Given the description of an element on the screen output the (x, y) to click on. 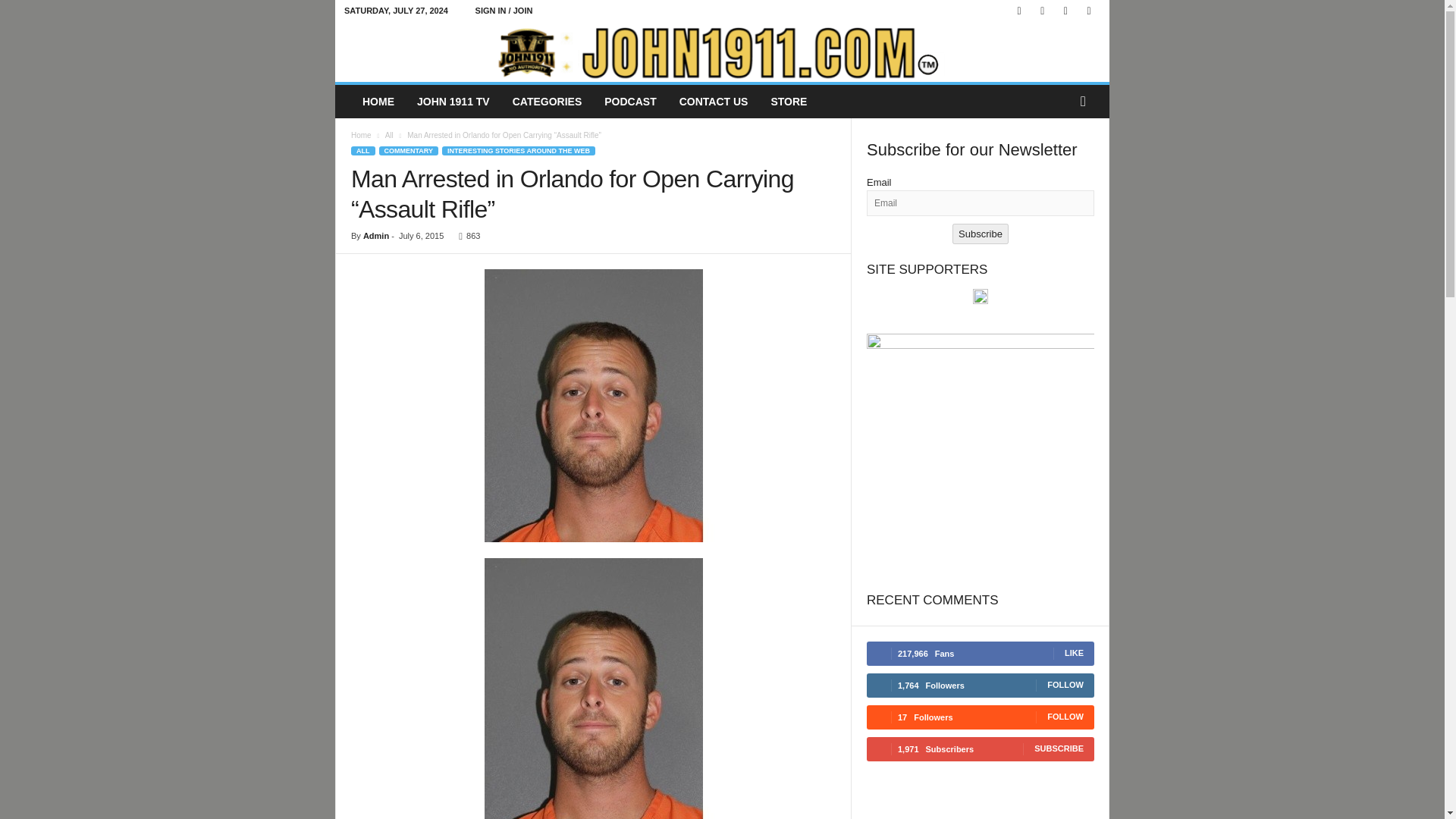
Christopher-Ray (592, 405)
View all posts in All (389, 135)
CATEGORIES (547, 101)
John1911.com Gun Blog (721, 51)
HOME (378, 101)
JOHN 1911 TV (453, 101)
